Given the description of an element on the screen output the (x, y) to click on. 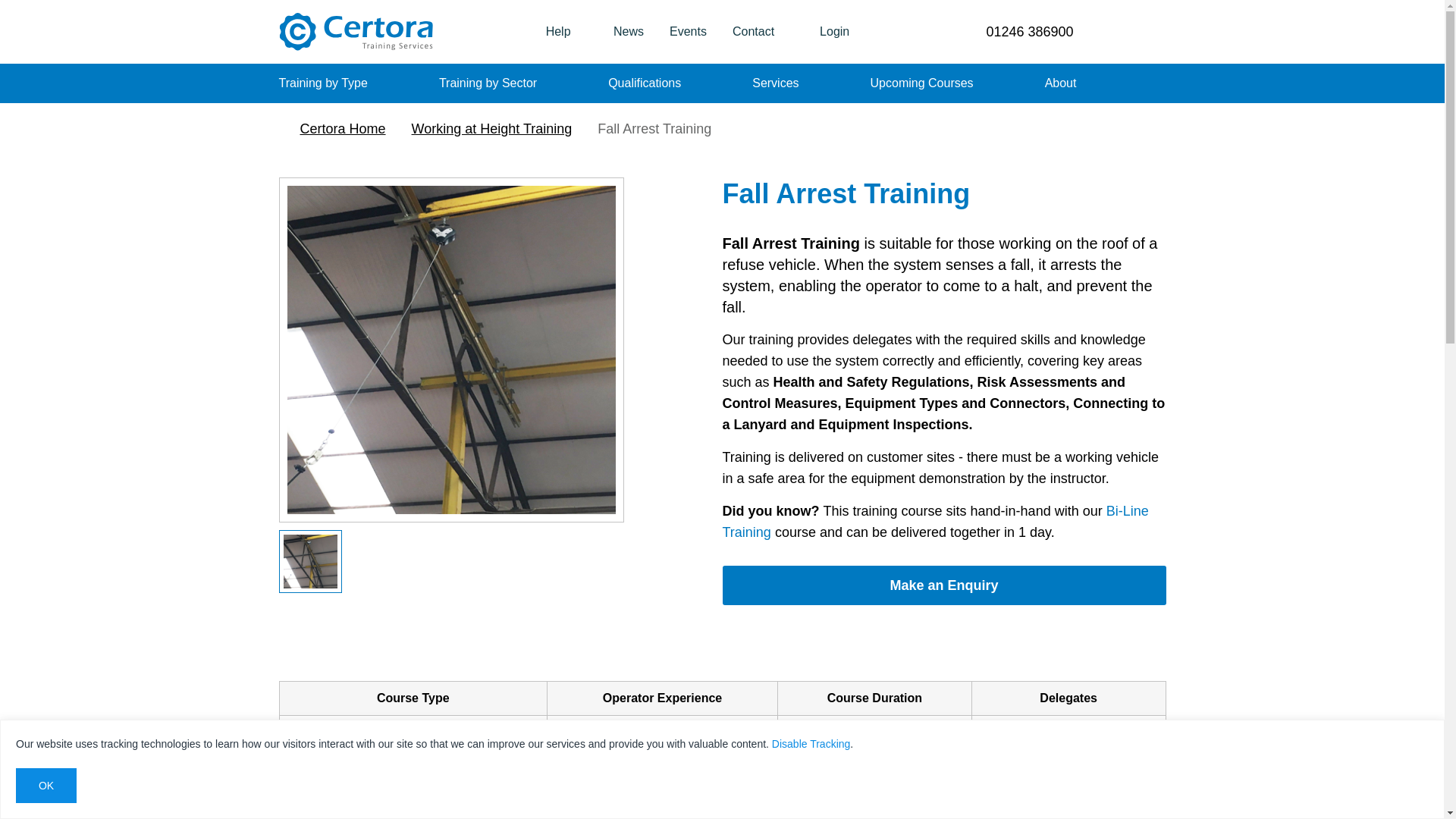
Events (687, 31)
Training by Type (322, 83)
OK (46, 785)
Login (824, 31)
Facebook (1131, 31)
Contact (753, 31)
LinkedIn (1157, 31)
Twitter (1105, 31)
Help (565, 31)
certora logo (356, 31)
